Given the description of an element on the screen output the (x, y) to click on. 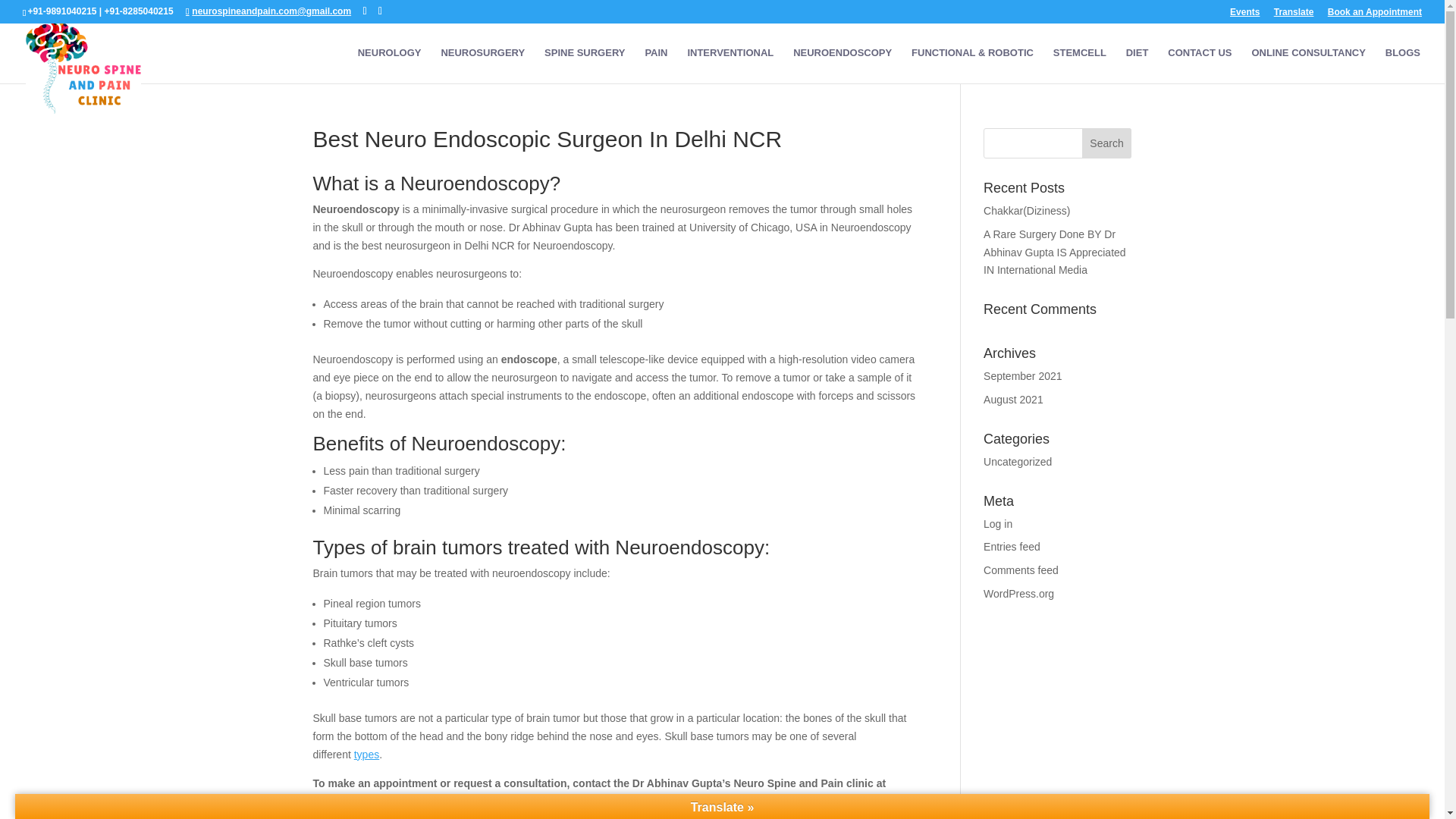
ONLINE CONSULTANCY (1307, 65)
types (365, 754)
INTERVENTIONAL (730, 65)
www.neurospineandpain.com (510, 800)
Search (1106, 142)
NEUROSURGERY (482, 65)
Search (1106, 142)
NEUROLOGY (390, 65)
Events (1244, 15)
BLOGS (1403, 65)
NEUROENDOSCOPY (842, 65)
Translate (1294, 14)
Uncategorized (1017, 461)
August 2021 (1013, 399)
